Given the description of an element on the screen output the (x, y) to click on. 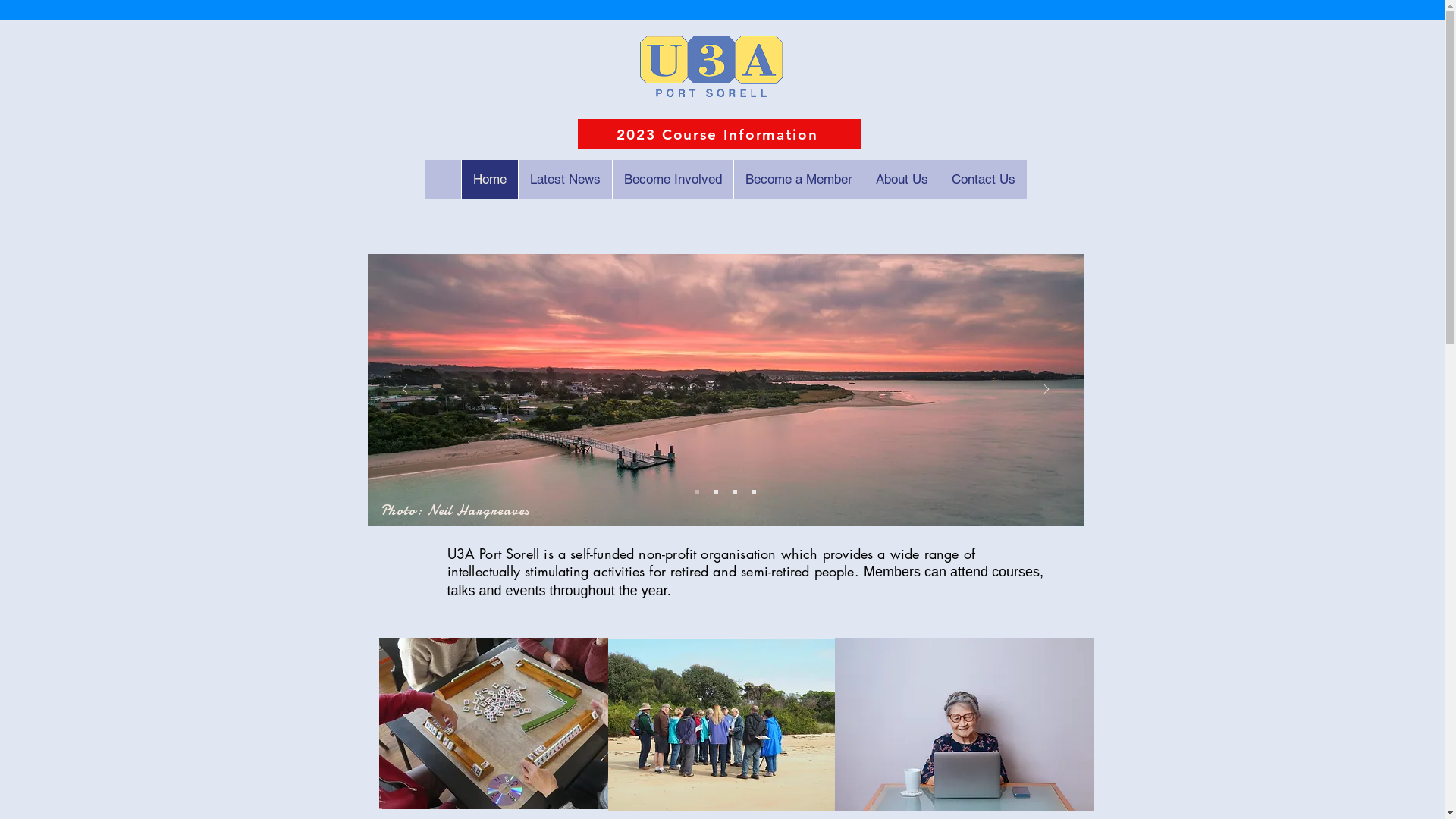
Home Element type: text (489, 179)
2023 Course Information Element type: text (718, 134)
Latest News Element type: text (564, 179)
John - Tidal Pools.JPG Element type: hover (722, 724)
Contact Us Element type: text (982, 179)
